Given the description of an element on the screen output the (x, y) to click on. 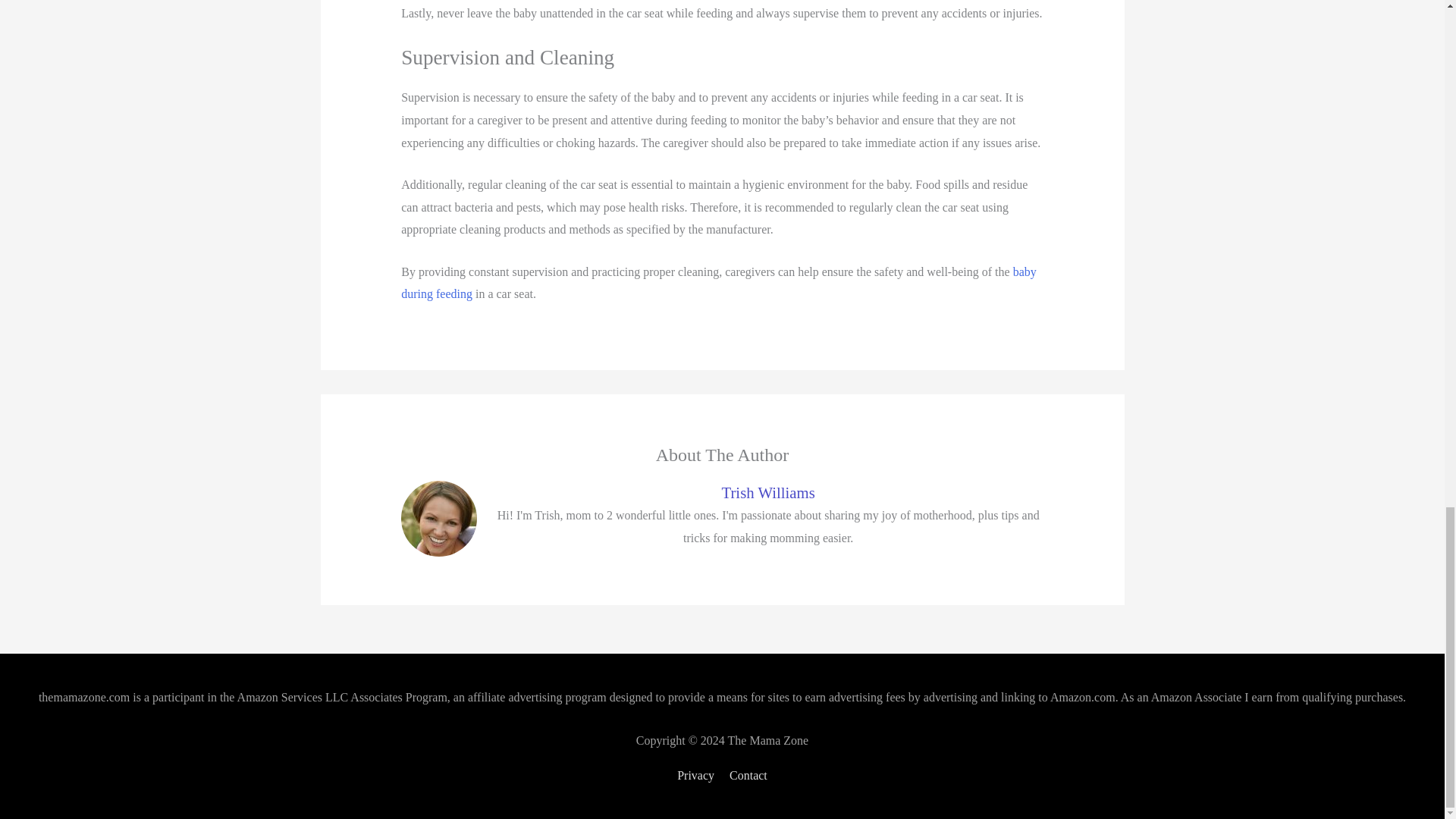
Privacy (698, 775)
baby during feeding (718, 283)
Trish Williams (768, 492)
Contact (745, 775)
